Given the description of an element on the screen output the (x, y) to click on. 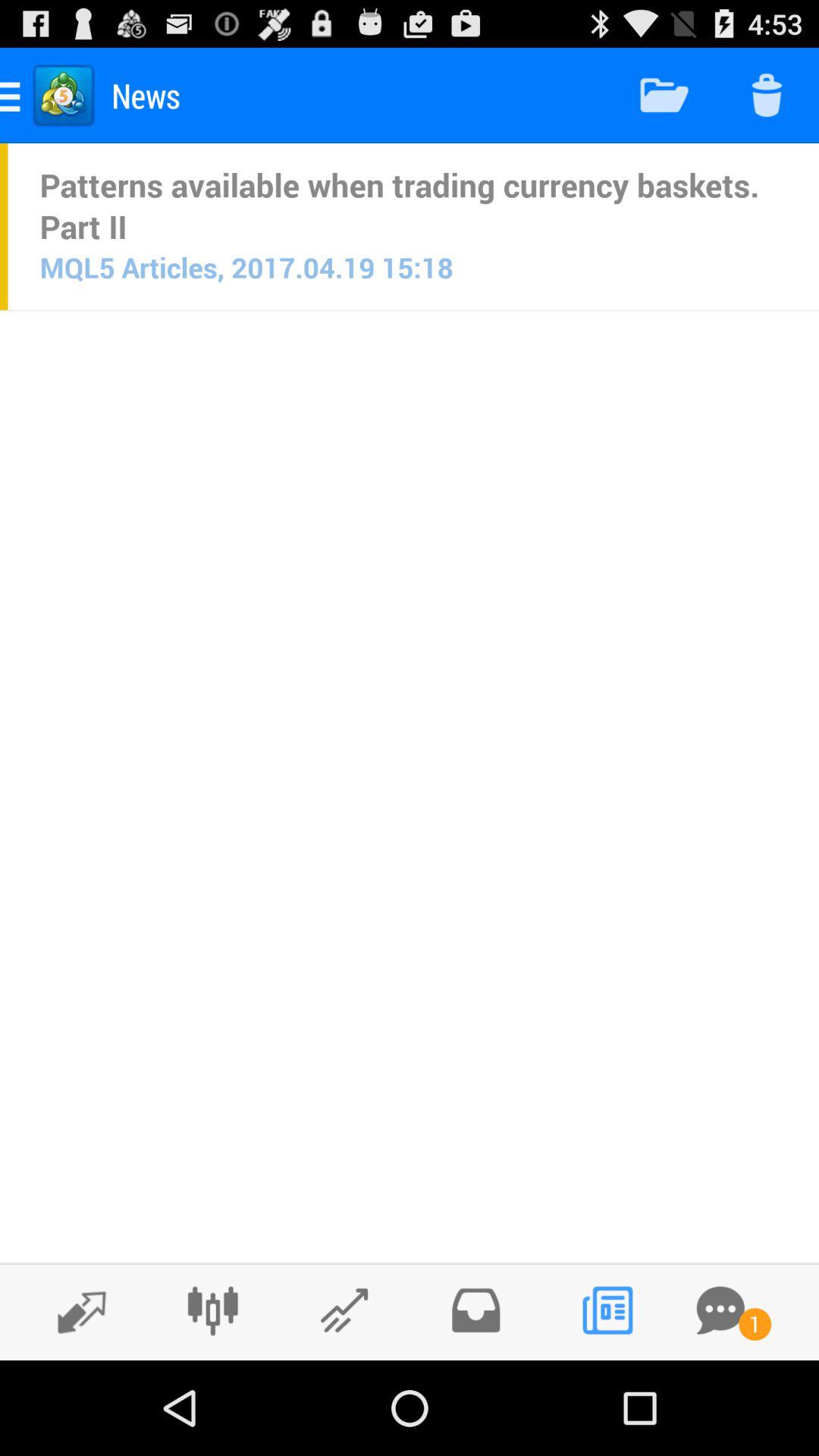
menu (475, 1310)
